Given the description of an element on the screen output the (x, y) to click on. 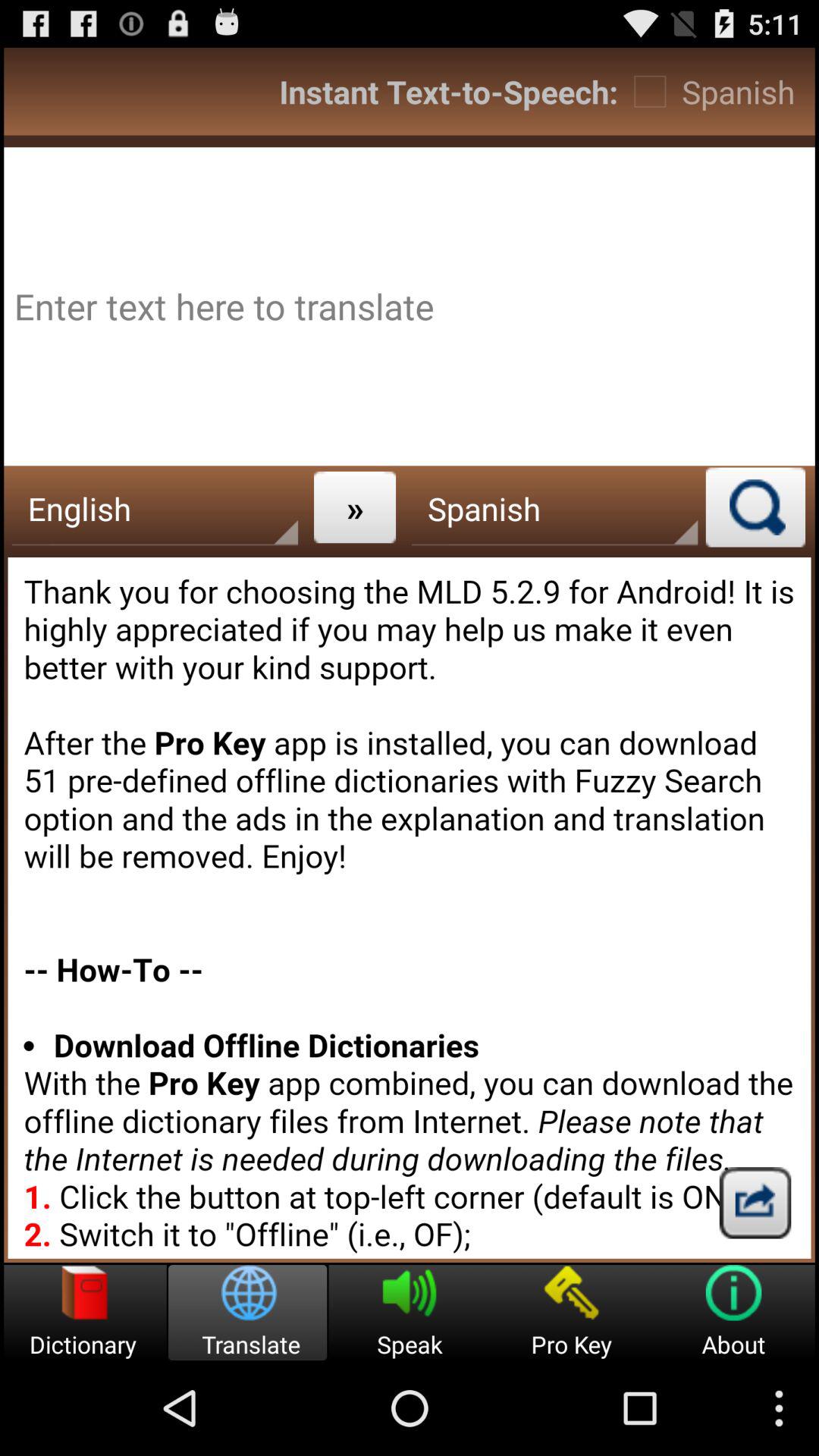
advertisement page (409, 306)
